Given the description of an element on the screen output the (x, y) to click on. 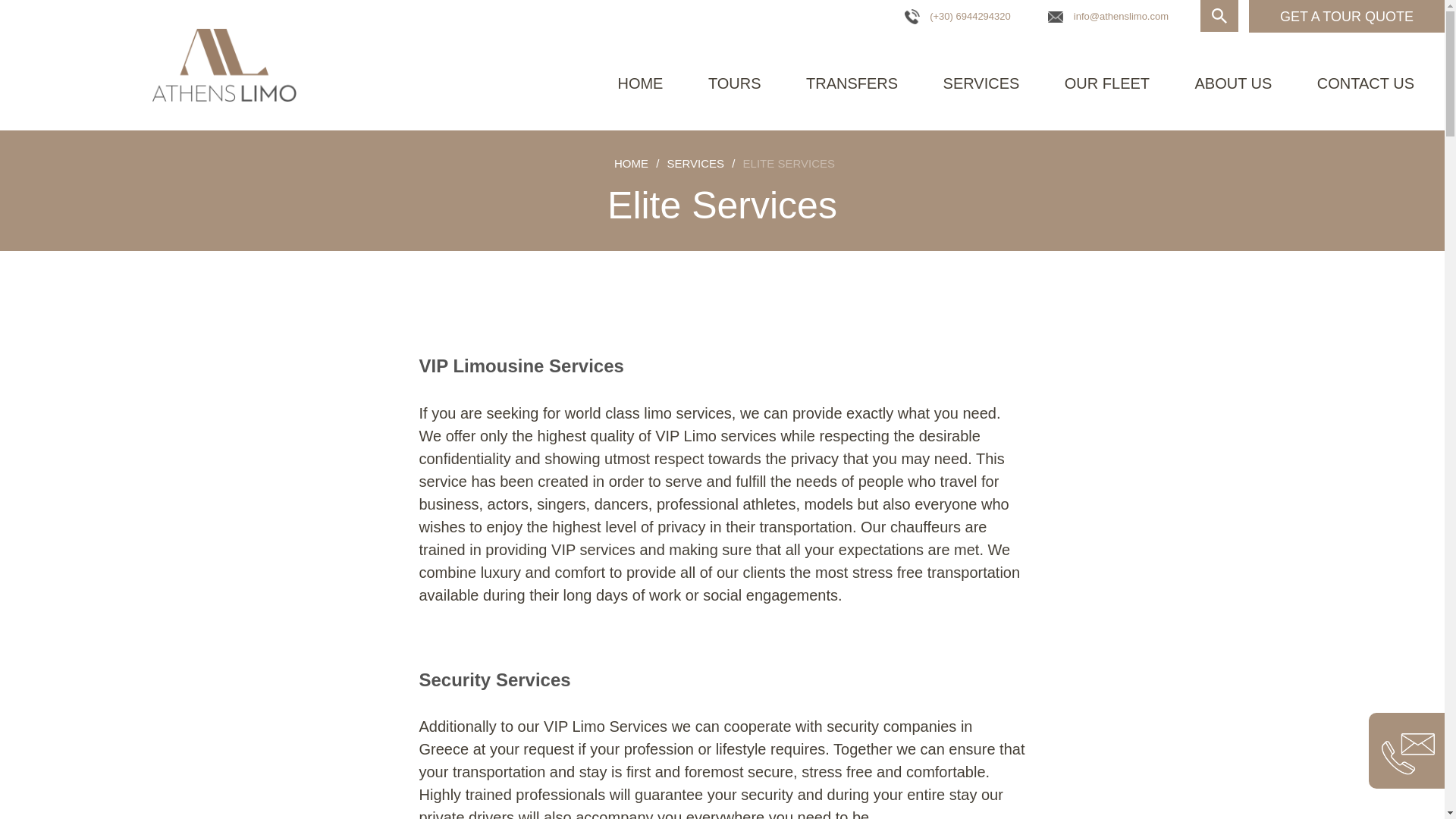
HOME (639, 83)
ABOUT US (1233, 83)
SERVICES (981, 83)
TOURS (734, 83)
CONTACT US (1365, 83)
SERVICES (695, 163)
Athens Limo (223, 63)
HOME (631, 163)
TRANSFERS (852, 83)
OUR FLEET (1107, 83)
